Given the description of an element on the screen output the (x, y) to click on. 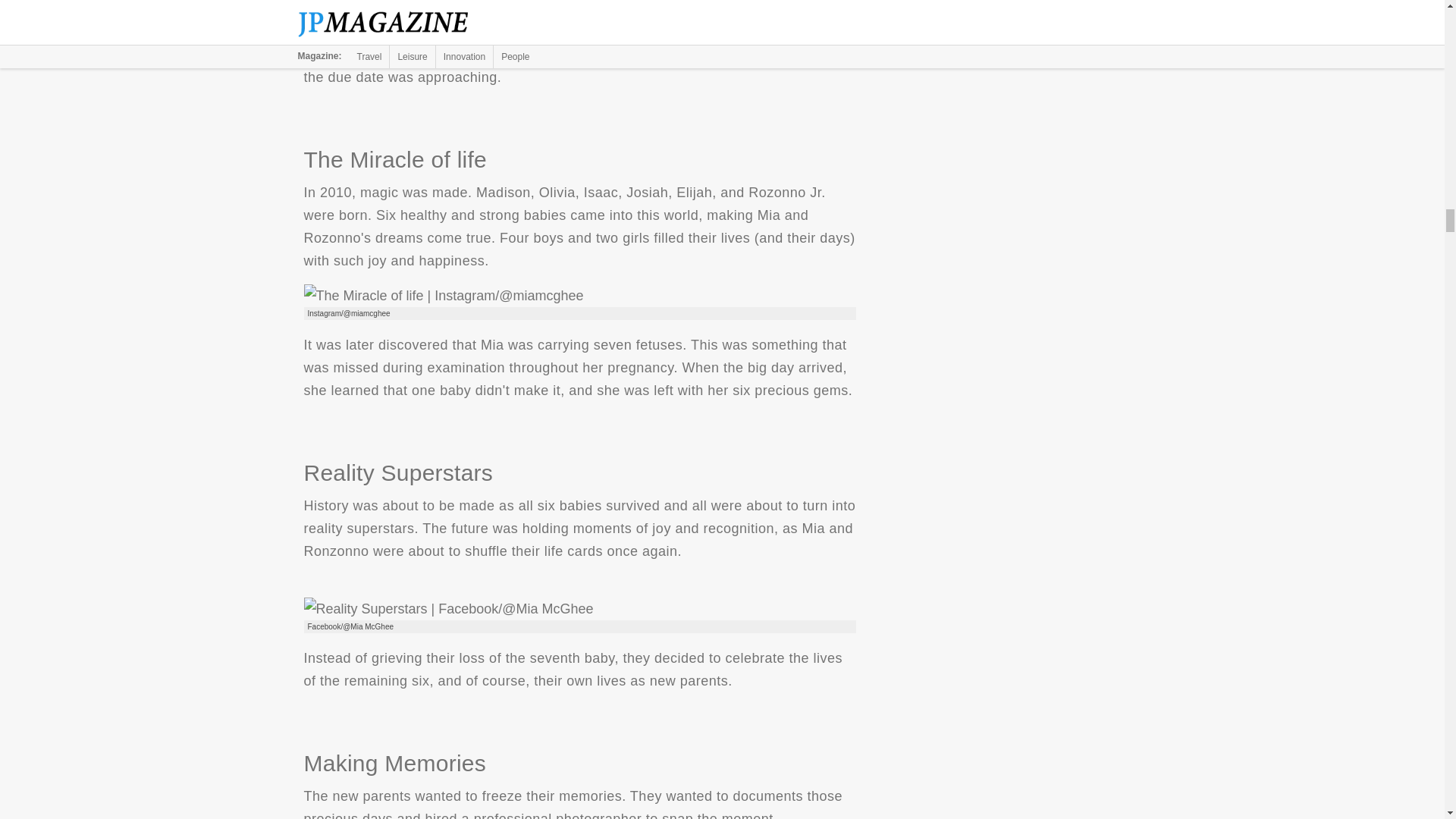
The Miracle of life (442, 295)
Reality Superstars (447, 608)
